Given the description of an element on the screen output the (x, y) to click on. 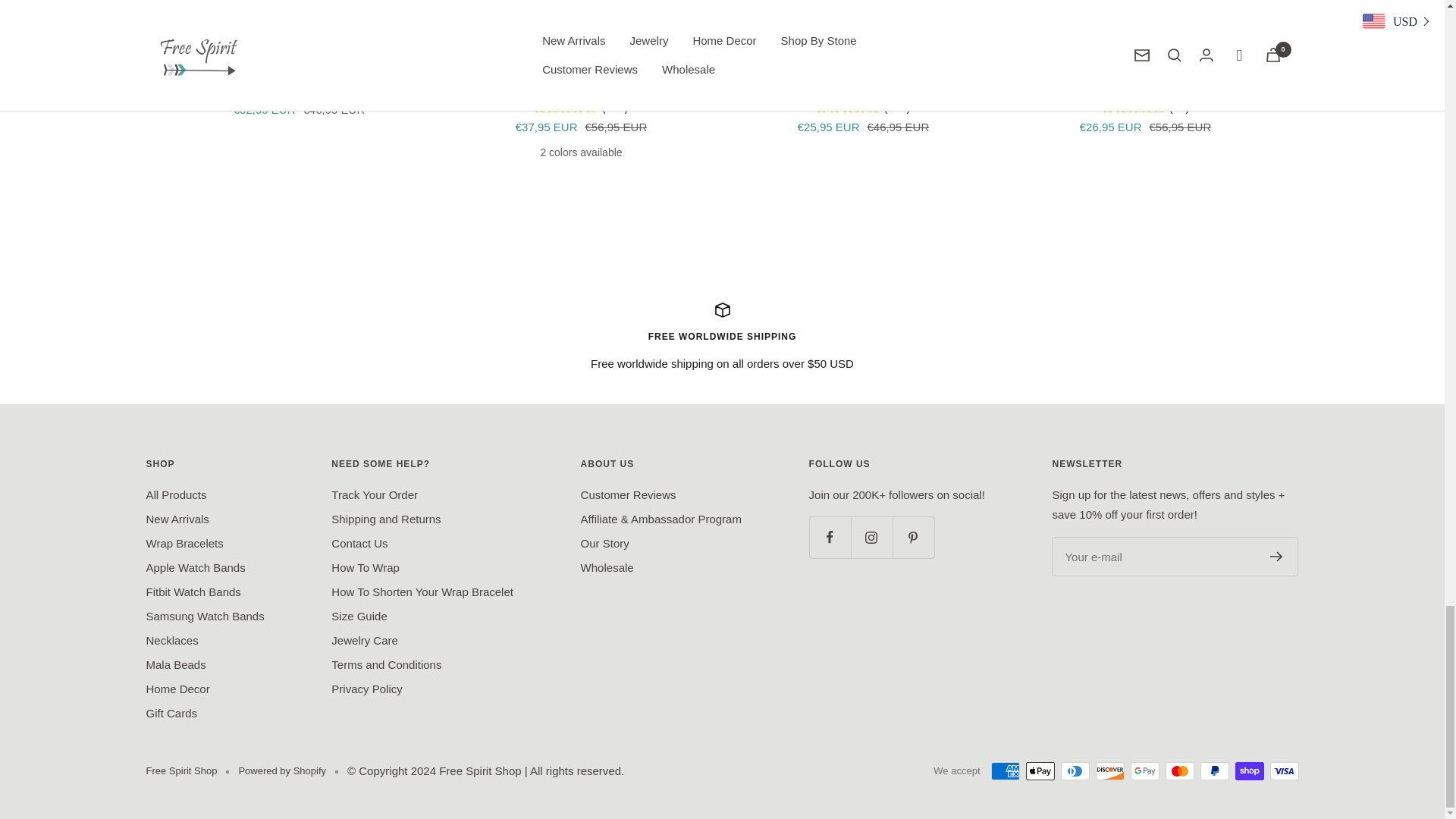
Register (1275, 556)
